Given the description of an element on the screen output the (x, y) to click on. 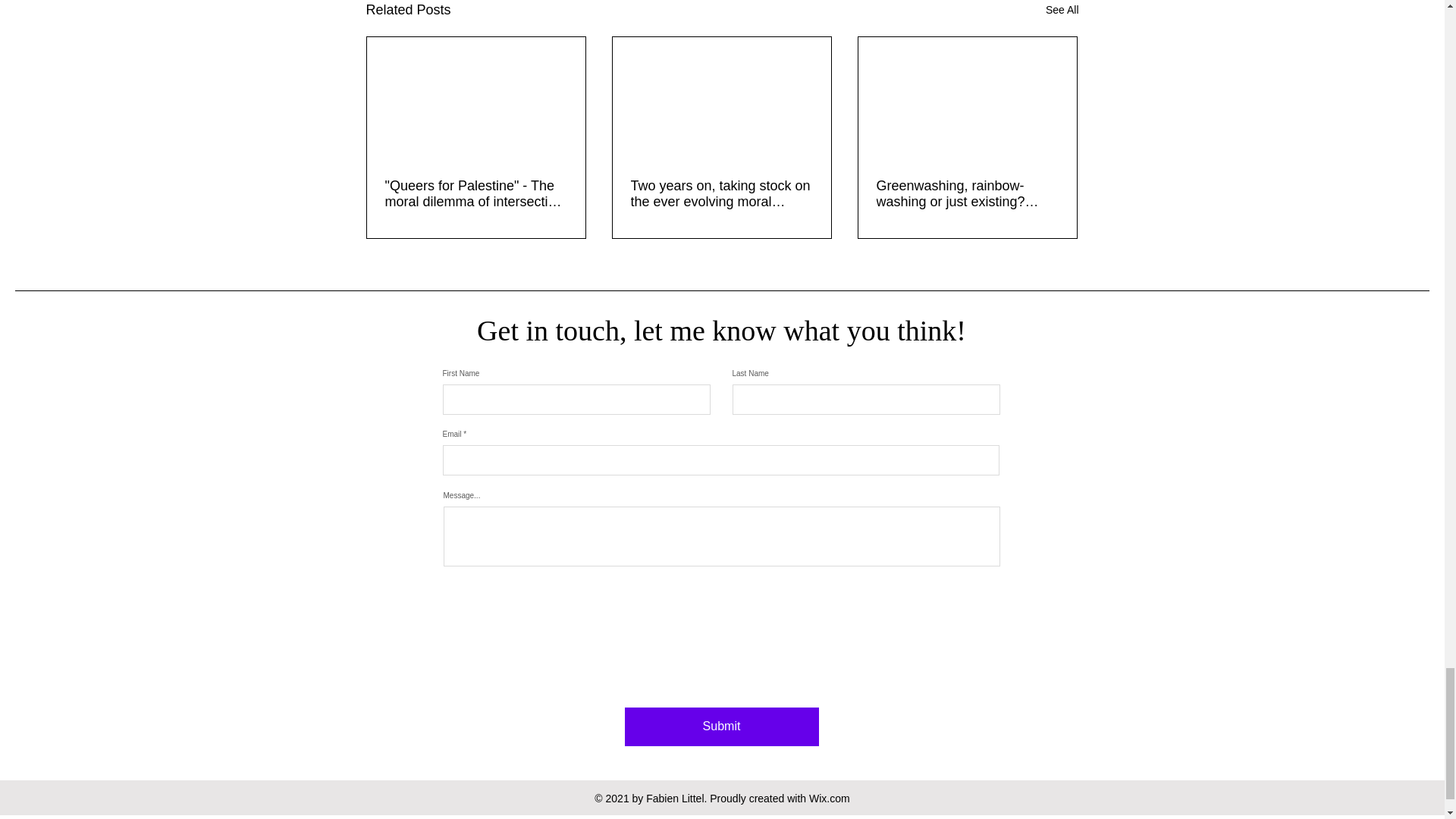
Wix.com (829, 798)
See All (1061, 10)
Submit (721, 726)
